Given the description of an element on the screen output the (x, y) to click on. 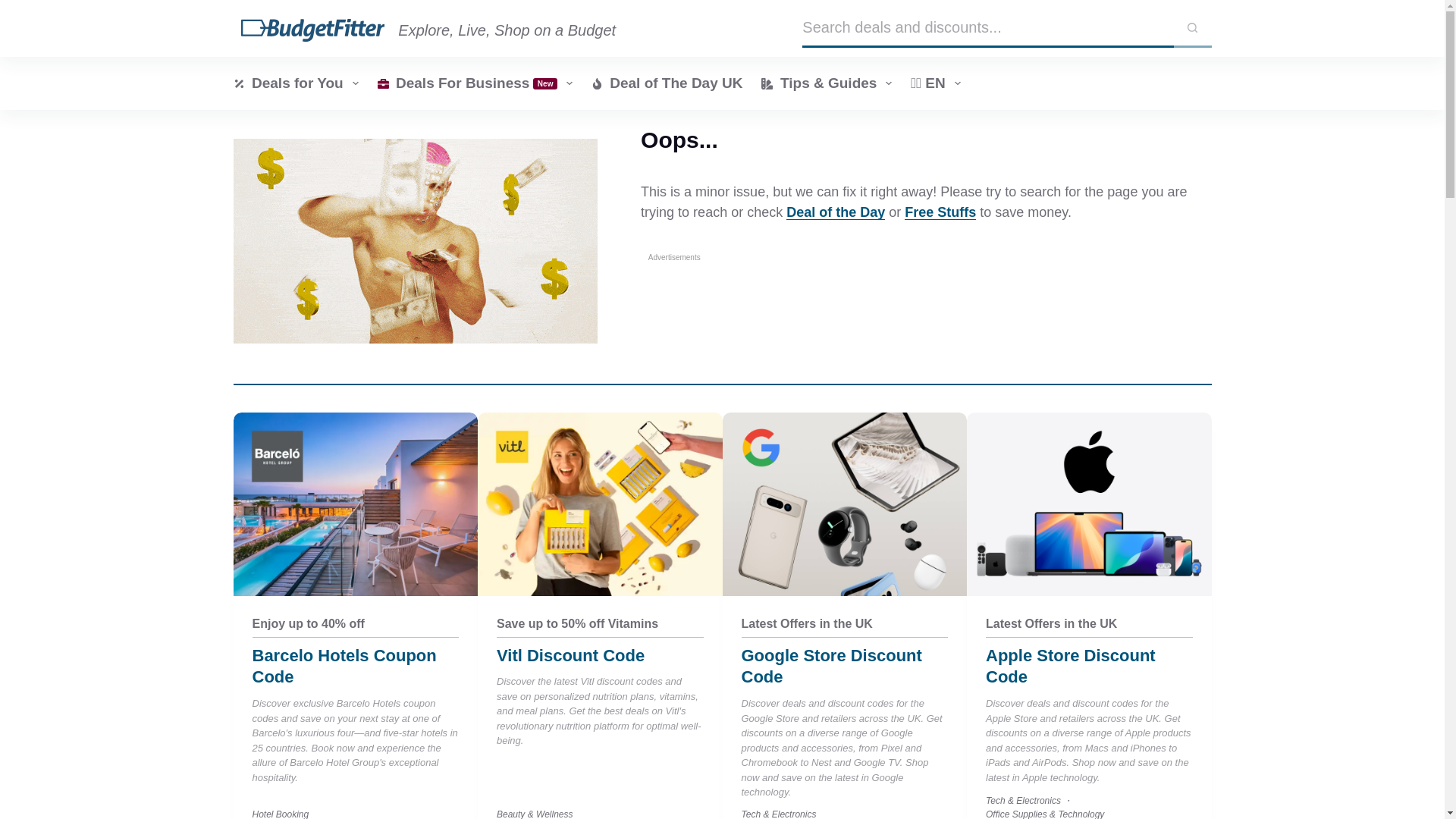
Search for... (987, 27)
Skip to content (15, 7)
